Given the description of an element on the screen output the (x, y) to click on. 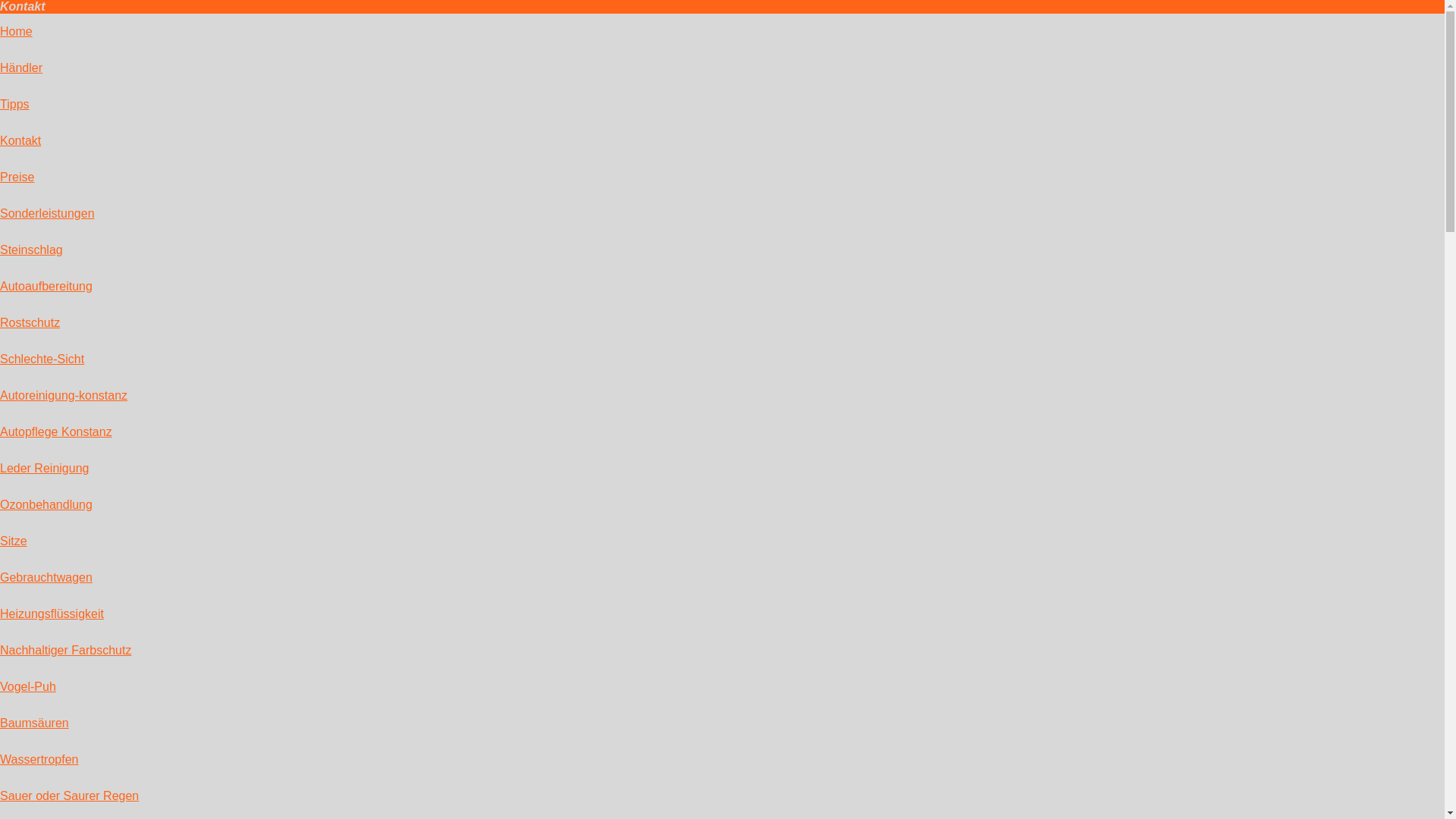
Vogel-Puh Element type: text (28, 686)
Preise Element type: text (17, 176)
Autopflege Konstanz Element type: text (56, 431)
Gebrauchtwagen Element type: text (46, 577)
Sauer oder Saurer Regen Element type: text (69, 795)
Autoreinigung-konstanz Element type: text (63, 395)
Home Element type: text (16, 31)
Kontakt Element type: text (20, 140)
Autoaufbereitung Element type: text (46, 285)
Schlechte-Sicht Element type: text (42, 358)
Steinschlag Element type: text (31, 249)
Tipps Element type: text (14, 103)
Rostschutz Element type: text (29, 322)
Wassertropfen Element type: text (39, 759)
Nachhaltiger Farbschutz Element type: text (65, 649)
Ozonbehandlung Element type: text (46, 504)
Leder Reinigung Element type: text (44, 467)
Sonderleistungen Element type: text (47, 213)
Sitze Element type: text (13, 540)
